Given the description of an element on the screen output the (x, y) to click on. 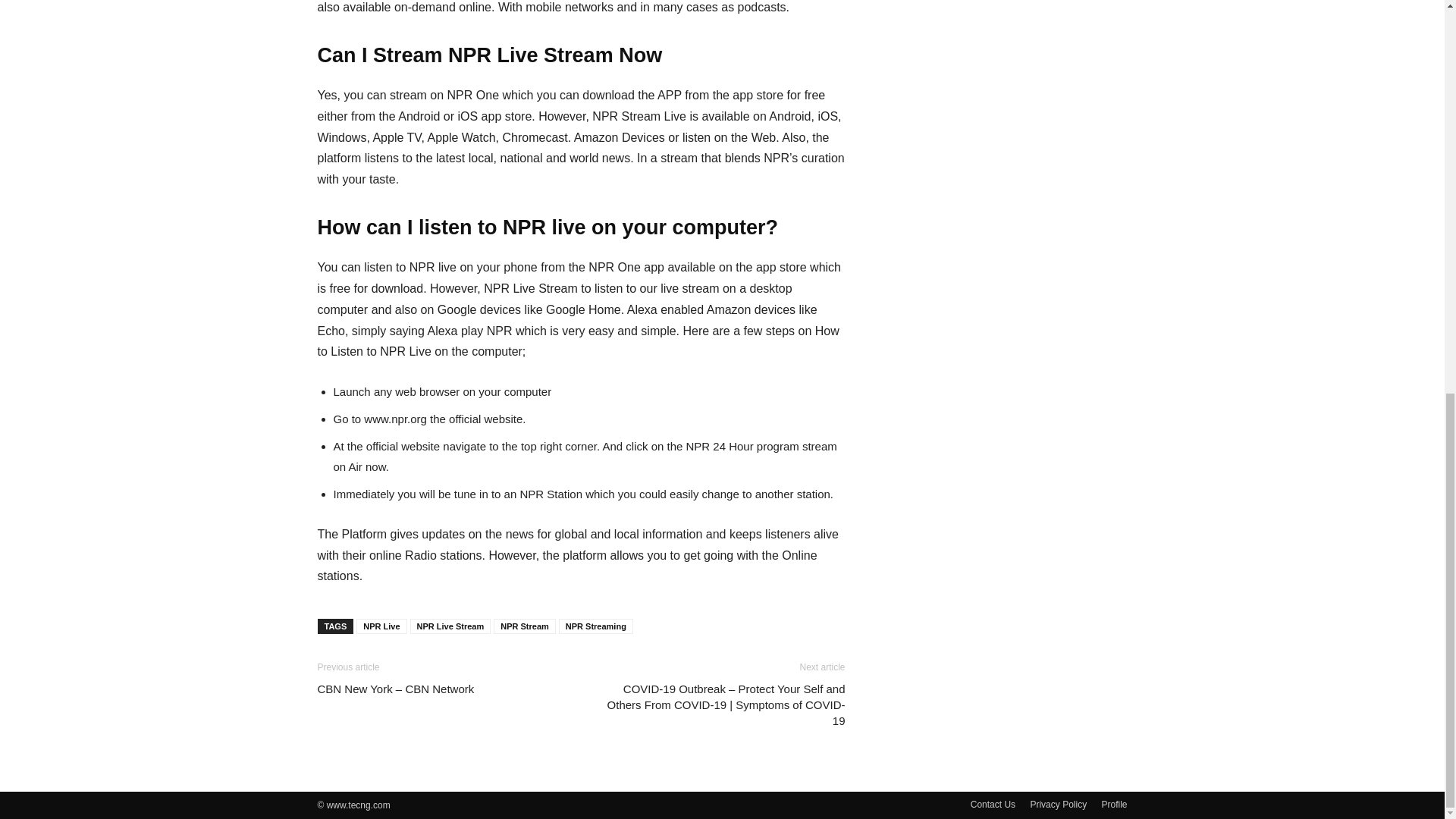
NPR Live (381, 626)
NPR Live Stream (451, 626)
